Given the description of an element on the screen output the (x, y) to click on. 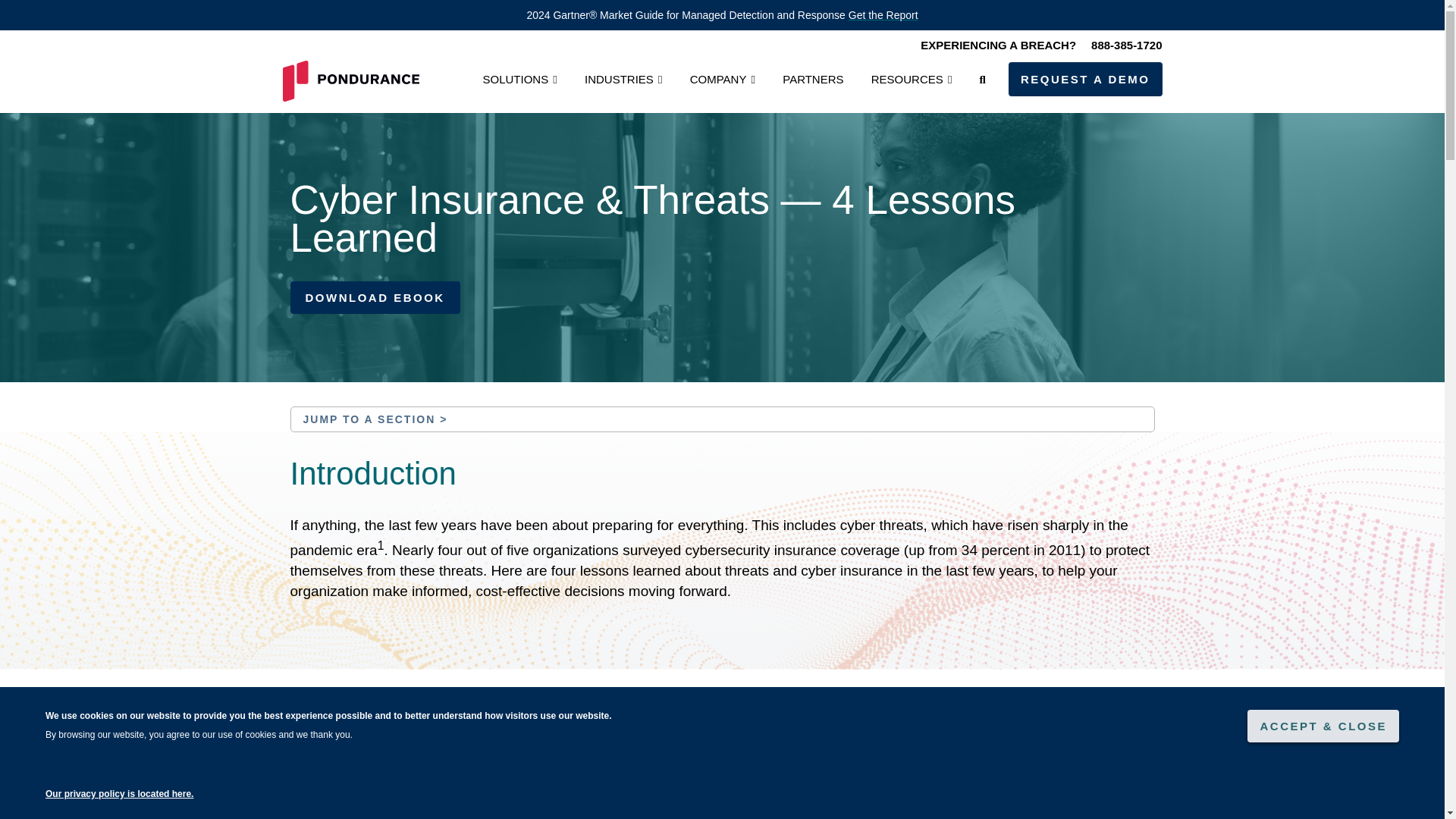
PARTNERS (813, 79)
Get the Report (883, 15)
888-385-1720 (1118, 45)
SOLUTIONS (514, 79)
COMPANY (718, 79)
INDUSTRIES (619, 79)
RESOURCES (906, 79)
